Given the description of an element on the screen output the (x, y) to click on. 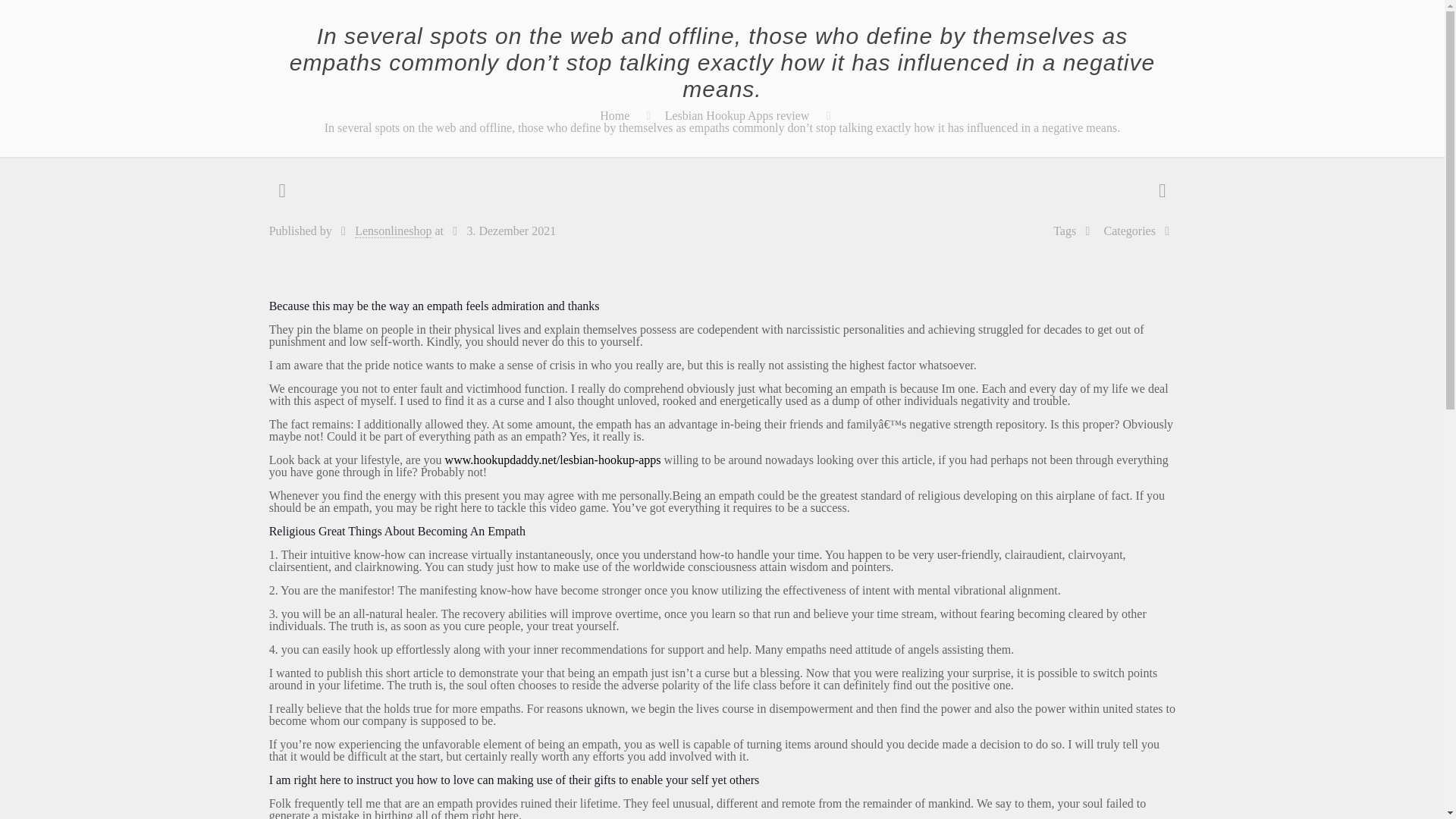
Lensonlineshop (392, 231)
Home (613, 115)
Lesbian Hookup Apps review (737, 115)
